Given the description of an element on the screen output the (x, y) to click on. 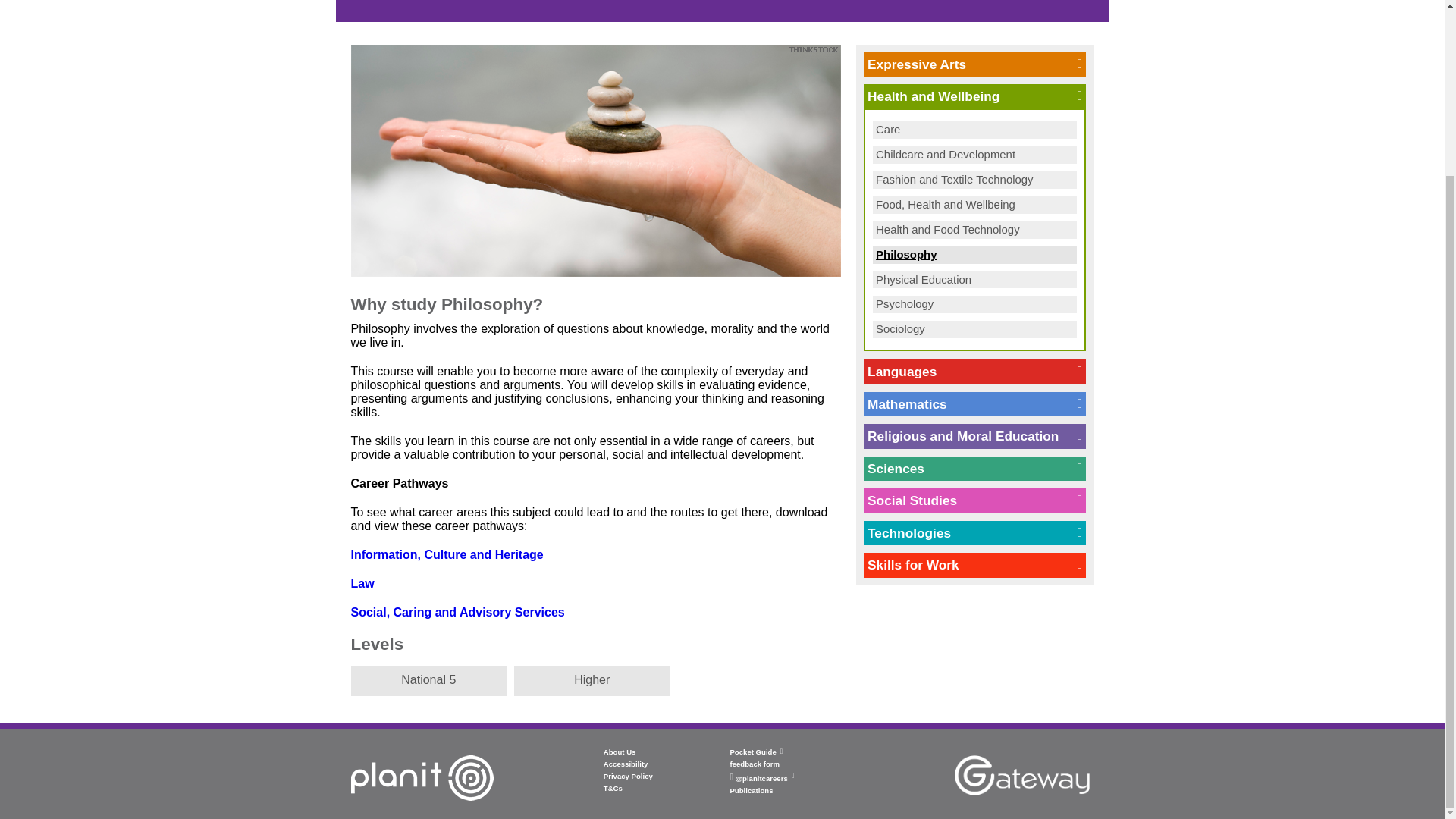
Law (362, 583)
Social, Caring and Advisory Services (457, 612)
Information, Culture and Heritage (446, 554)
Higher (591, 680)
National 5 (428, 680)
